Given the description of an element on the screen output the (x, y) to click on. 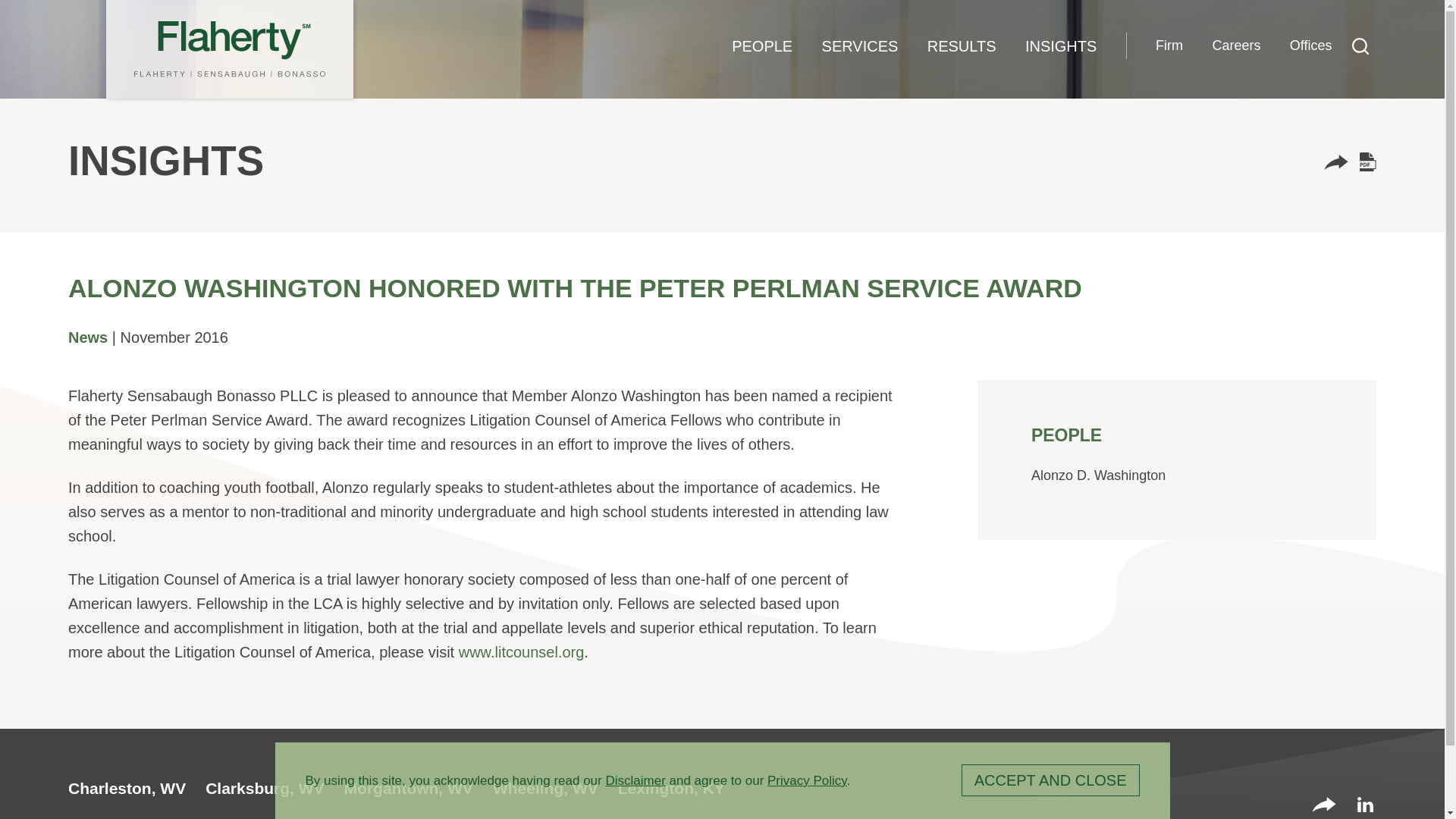
Main Menu (673, 20)
LinkedIn Icon (1364, 804)
Alonzo D. Washington (1098, 475)
Share (1323, 806)
INSIGHTS (1061, 46)
Share Icon (1335, 164)
Privacy Policy (807, 780)
Careers (1235, 45)
Disclaimer  (635, 780)
Firm (1168, 45)
